Given the description of an element on the screen output the (x, y) to click on. 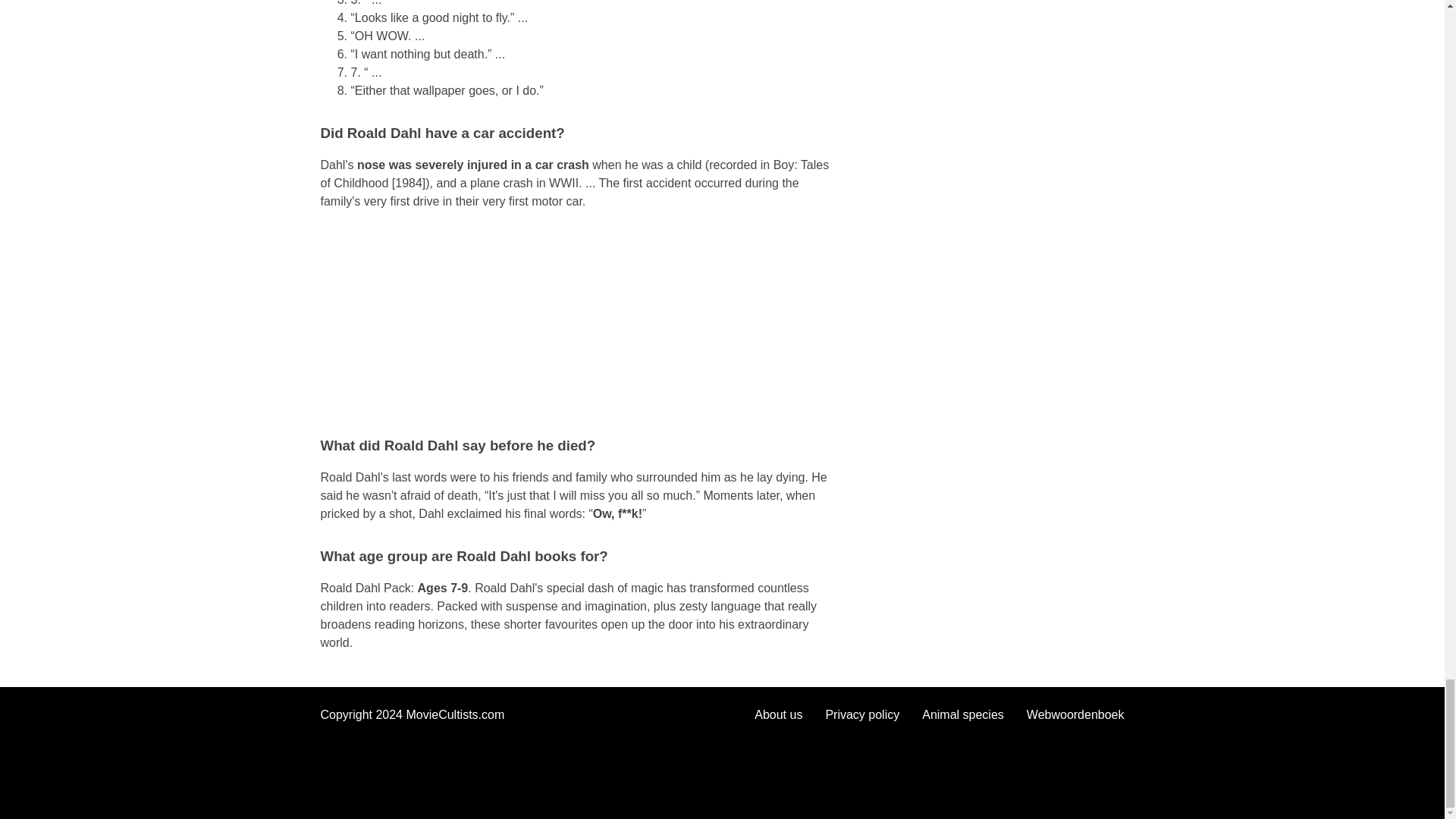
Animal species (962, 714)
Privacy policy (862, 714)
About us (778, 714)
Webwoordenboek (1075, 714)
